Given the description of an element on the screen output the (x, y) to click on. 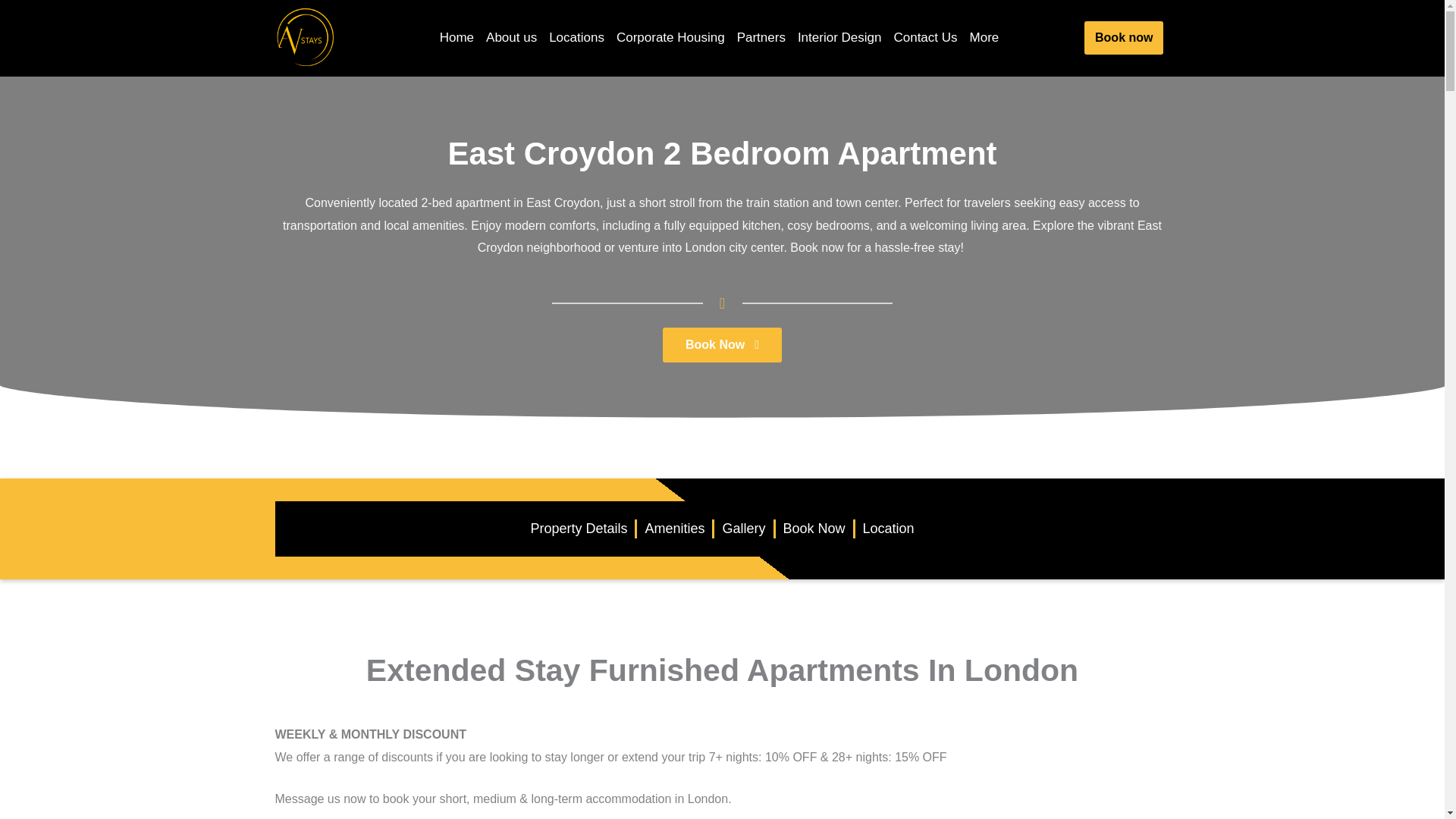
Home (456, 37)
Locations (576, 37)
About us (511, 37)
Partners (761, 37)
Corporate Housing (670, 37)
